Given the description of an element on the screen output the (x, y) to click on. 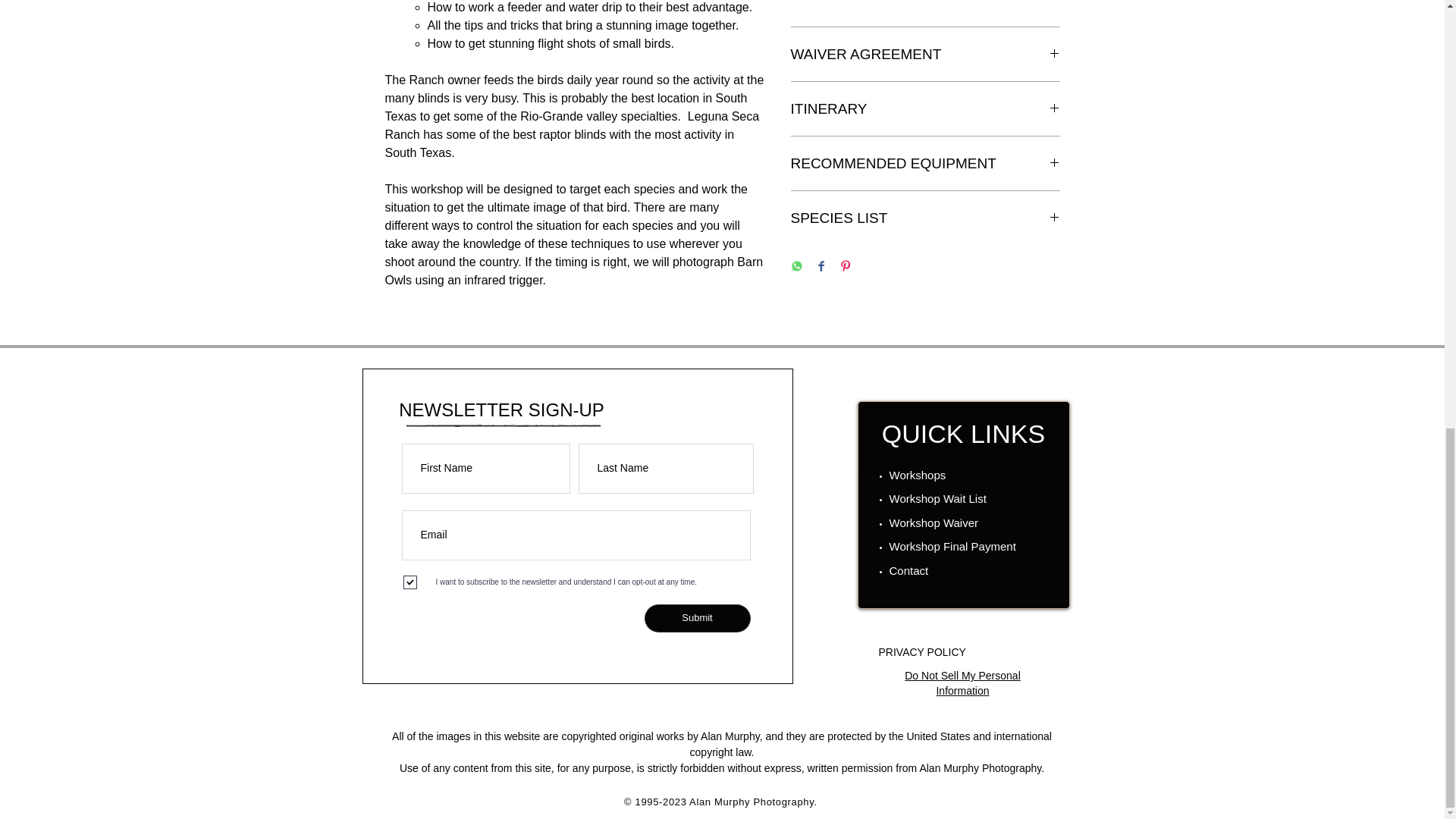
WAIVER AGREEMENT (924, 54)
